Given the description of an element on the screen output the (x, y) to click on. 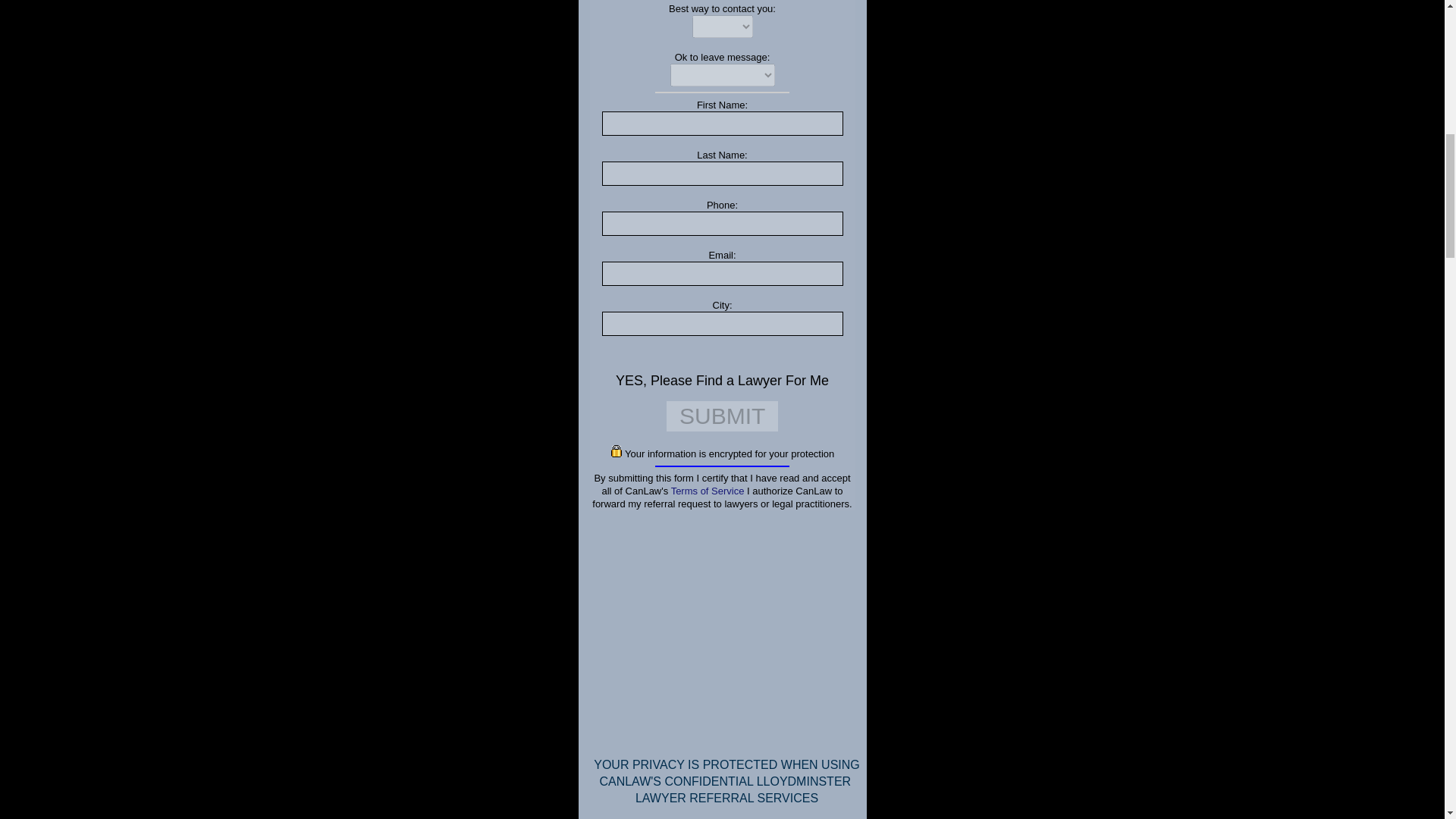
Terms of Service (707, 490)
  SUBMIT   (721, 416)
Safe Free Confidential Lawyer Referrals (707, 490)
  SUBMIT   (721, 416)
